Given the description of an element on the screen output the (x, y) to click on. 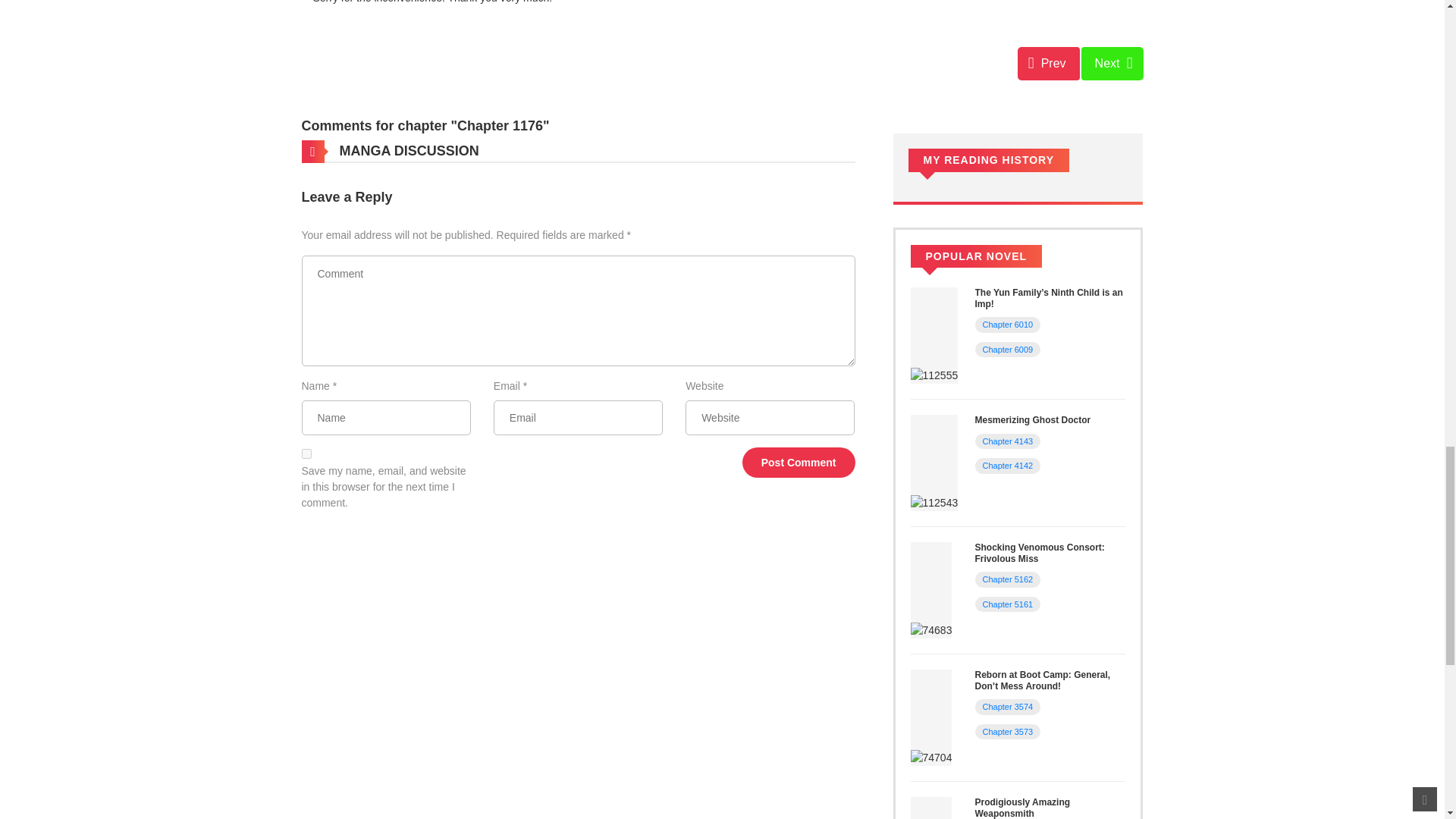
Chapter 1177 (1111, 63)
Chapter 1175 (1048, 63)
10 hours ago (1065, 438)
Chapter 6010 (1007, 324)
Mesmerizing Ghost Doctor (1032, 419)
Next (1111, 63)
10 hours ago (1065, 321)
Post Comment (799, 462)
10 hours ago (1065, 346)
yes (306, 453)
